Given the description of an element on the screen output the (x, y) to click on. 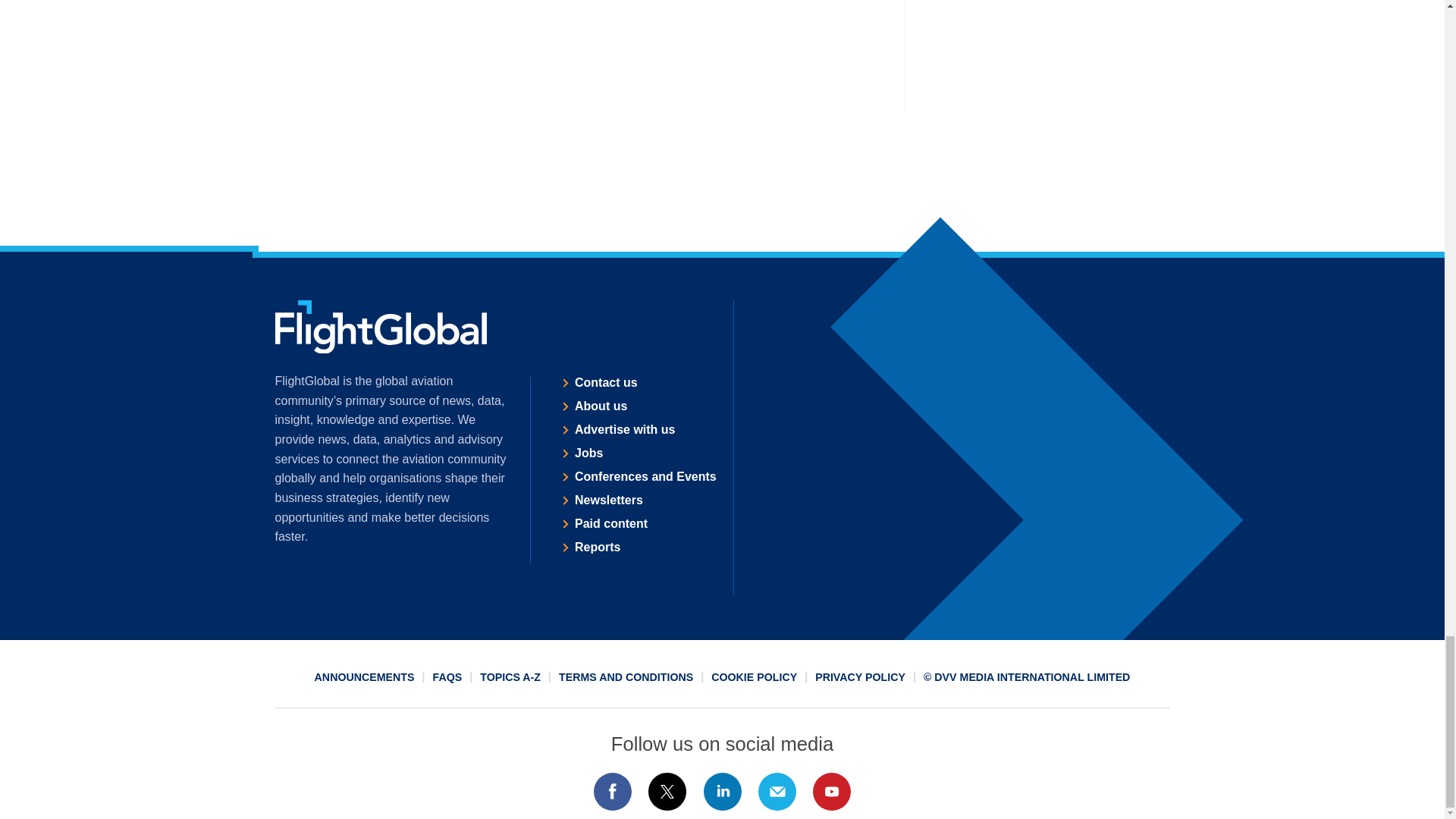
Connect with us on Twitter (667, 791)
Connect with us on Linked In (721, 791)
Connect with us on Youtube (831, 791)
Connect with us on Facebook (611, 791)
Email us (776, 791)
